Given the description of an element on the screen output the (x, y) to click on. 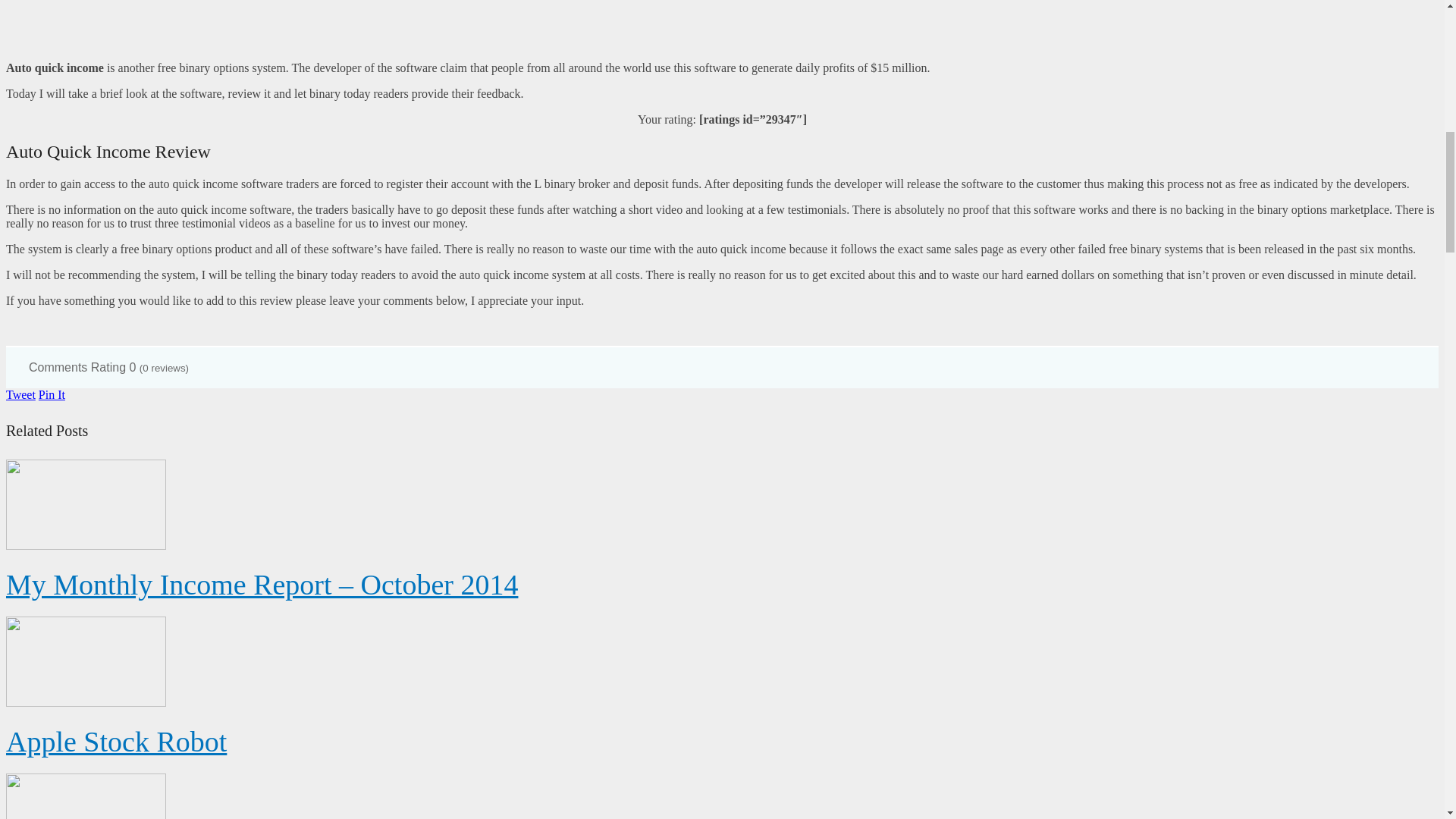
Pin It (52, 394)
Apple Stock Robot (116, 741)
Apple Stock Robot (116, 741)
Tweet (19, 394)
